Given the description of an element on the screen output the (x, y) to click on. 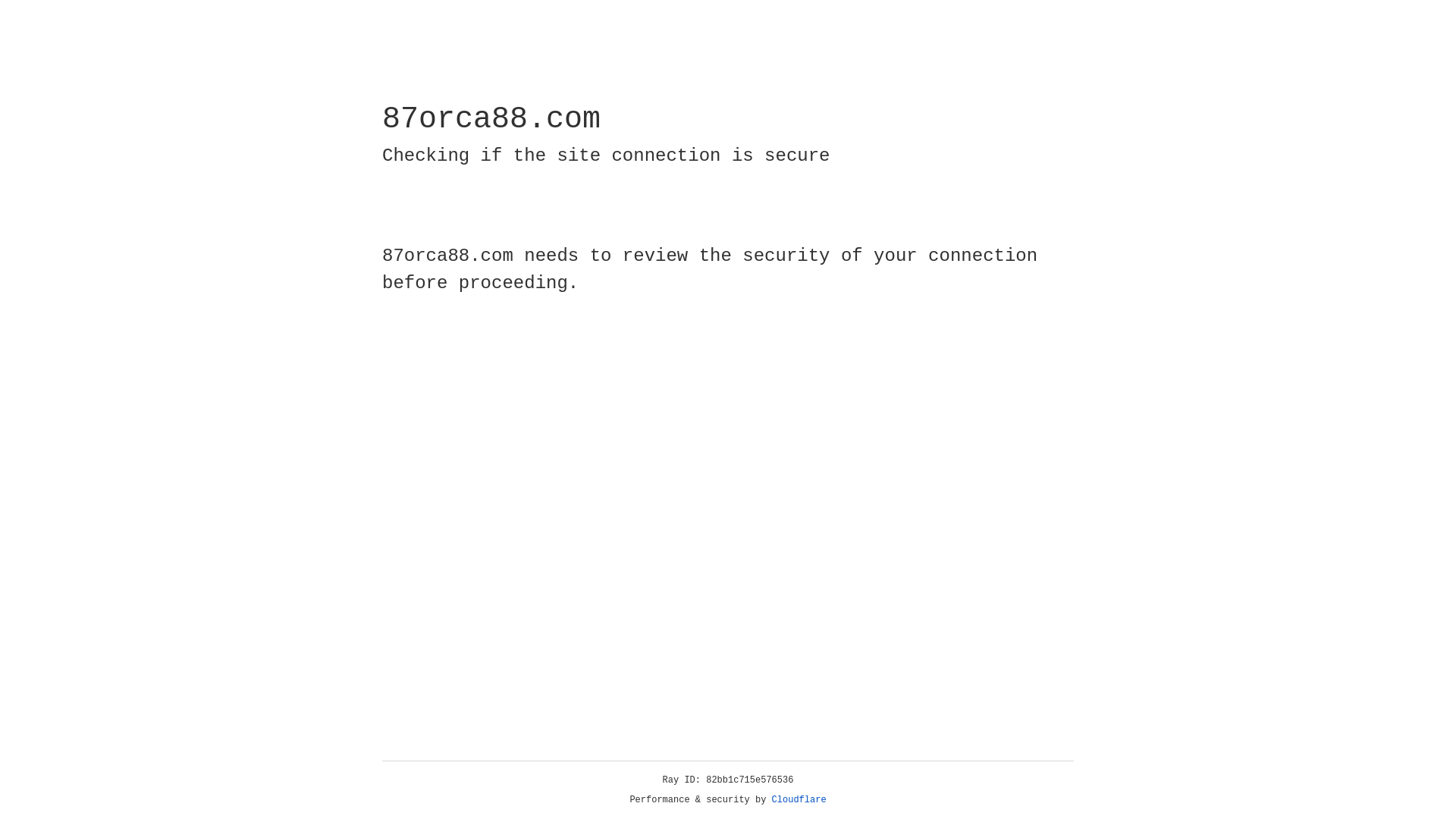
Cloudflare Element type: text (798, 799)
